Given the description of an element on the screen output the (x, y) to click on. 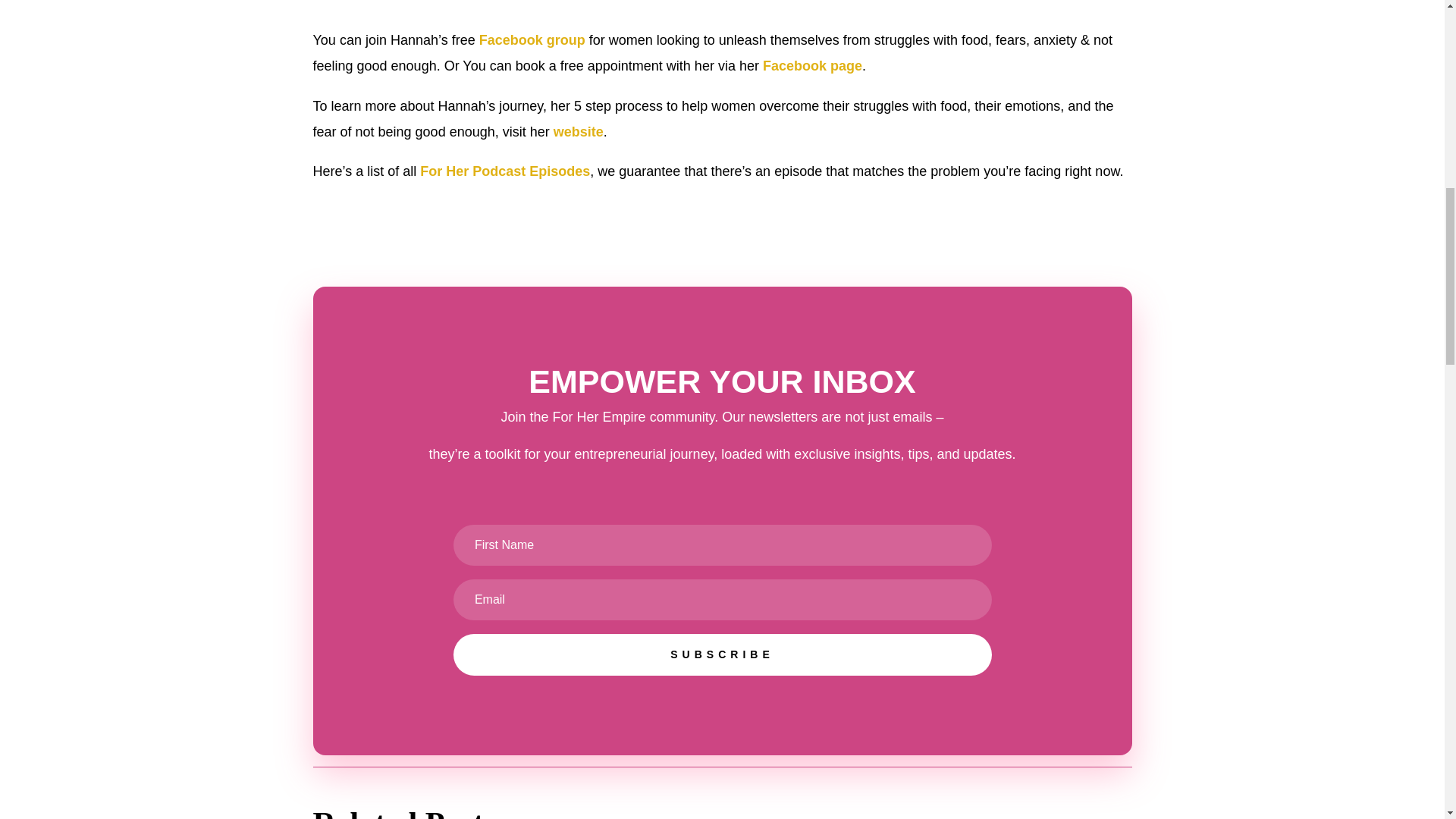
Facebook group (532, 39)
Facebook page (811, 65)
For Her Podcast Episodes (504, 171)
SUBSCRIBE (721, 654)
website (578, 131)
